Given the description of an element on the screen output the (x, y) to click on. 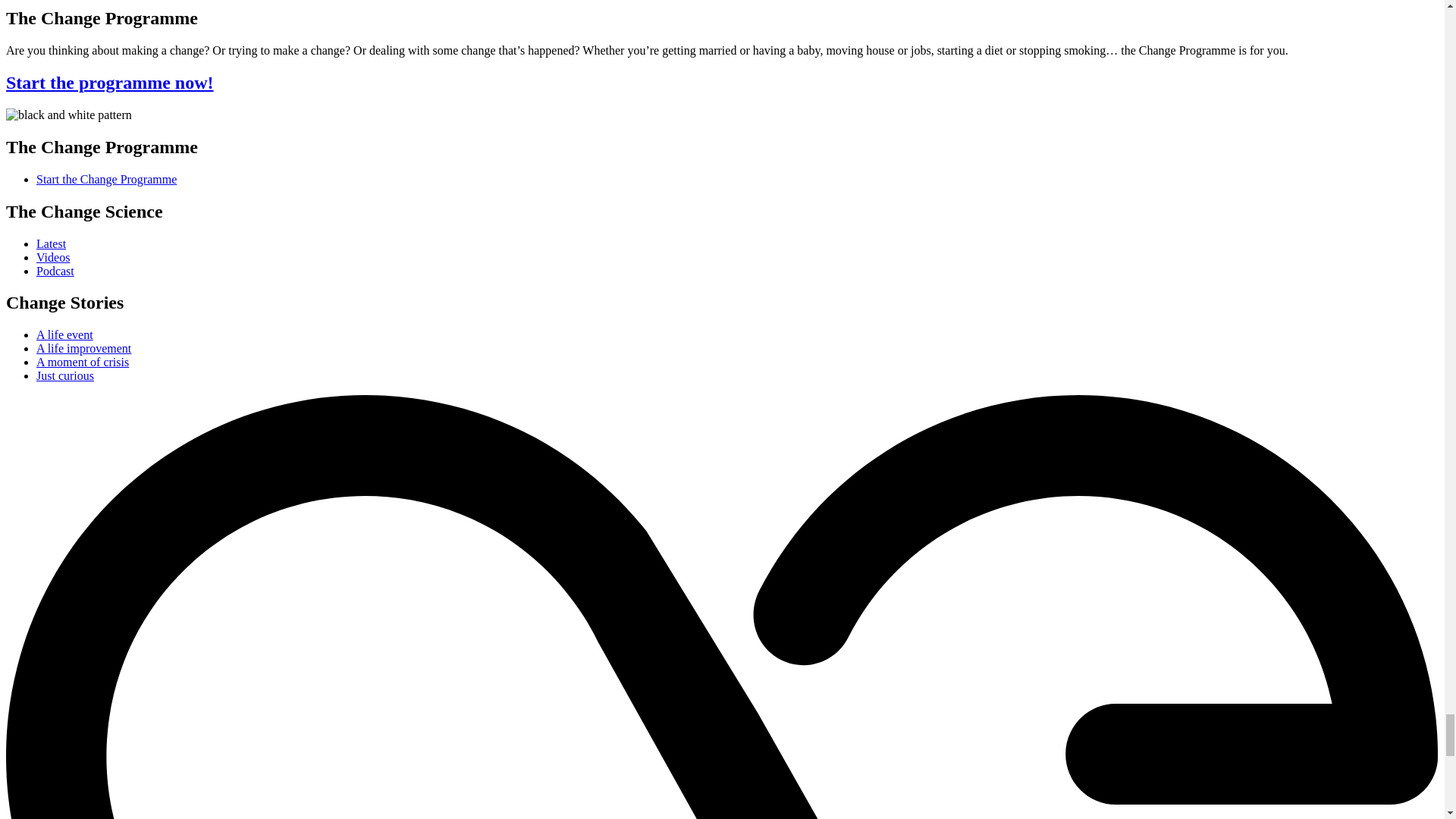
Latest (50, 243)
Start the Change Programme (106, 178)
Podcast (55, 270)
Start the programme now! (109, 82)
A life improvement (83, 348)
Videos (52, 256)
A moment of crisis (82, 361)
A life event (64, 334)
Just curious (65, 375)
